Given the description of an element on the screen output the (x, y) to click on. 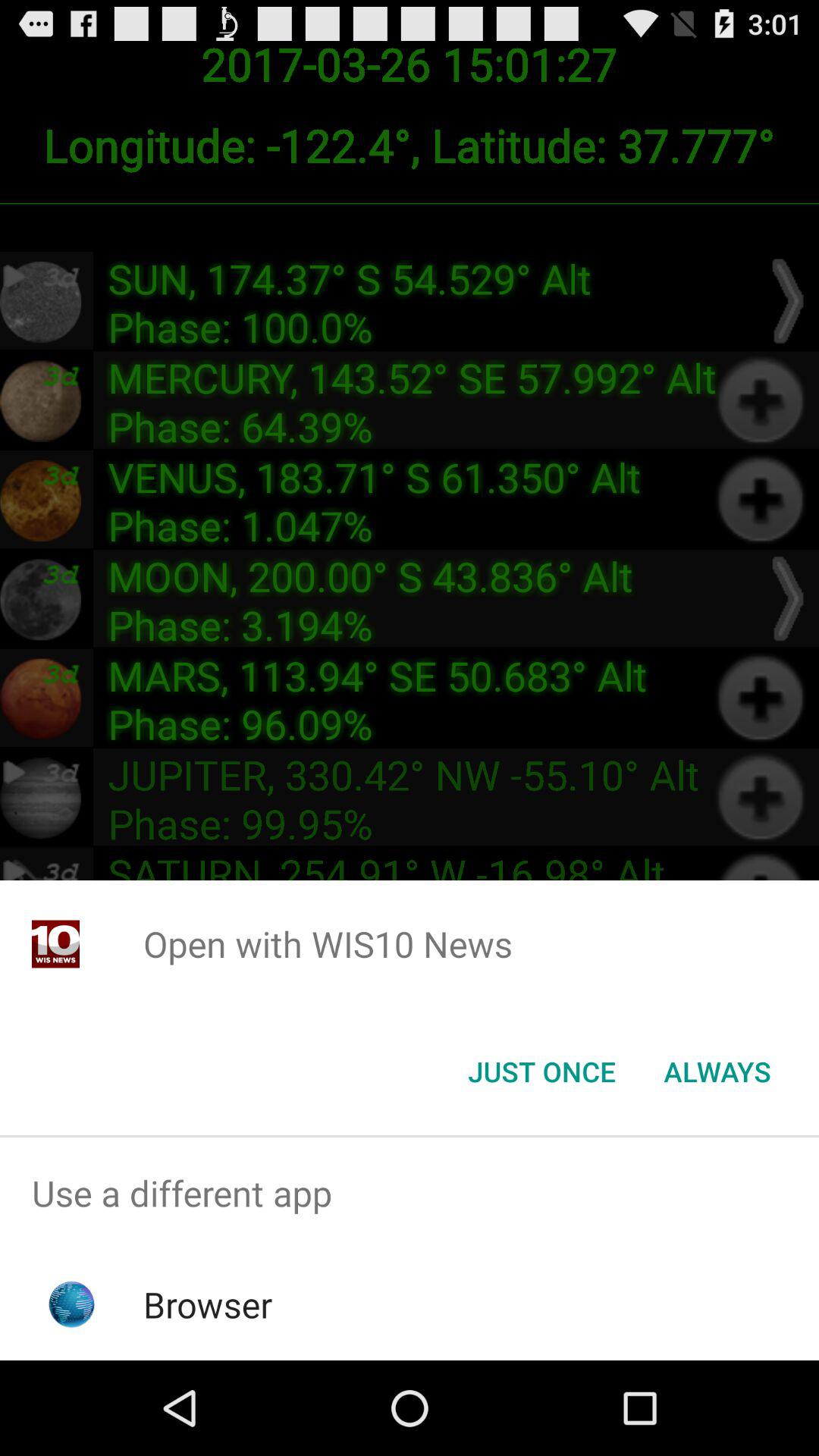
tap icon below open with wis10 app (541, 1071)
